Given the description of an element on the screen output the (x, y) to click on. 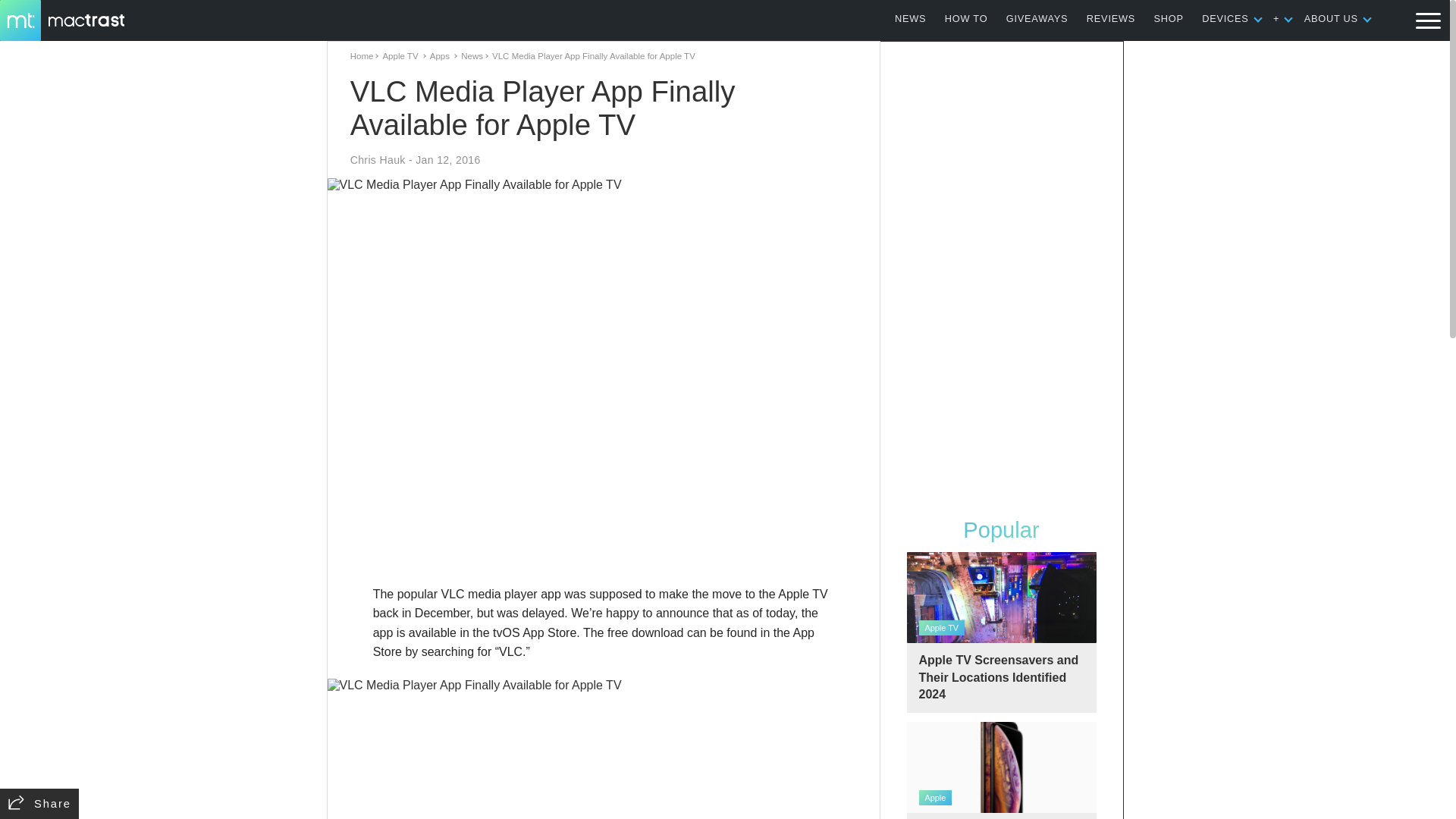
SHOP (1168, 18)
VLC Media Player App Finally Available for Apple TV (603, 748)
GIVEAWAYS (1037, 18)
HOW TO (966, 18)
NEWS (910, 18)
DEVICES (1224, 18)
ABOUT US (1331, 18)
Advertisement (603, 540)
Posts by Chris Hauk (378, 159)
